Given the description of an element on the screen output the (x, y) to click on. 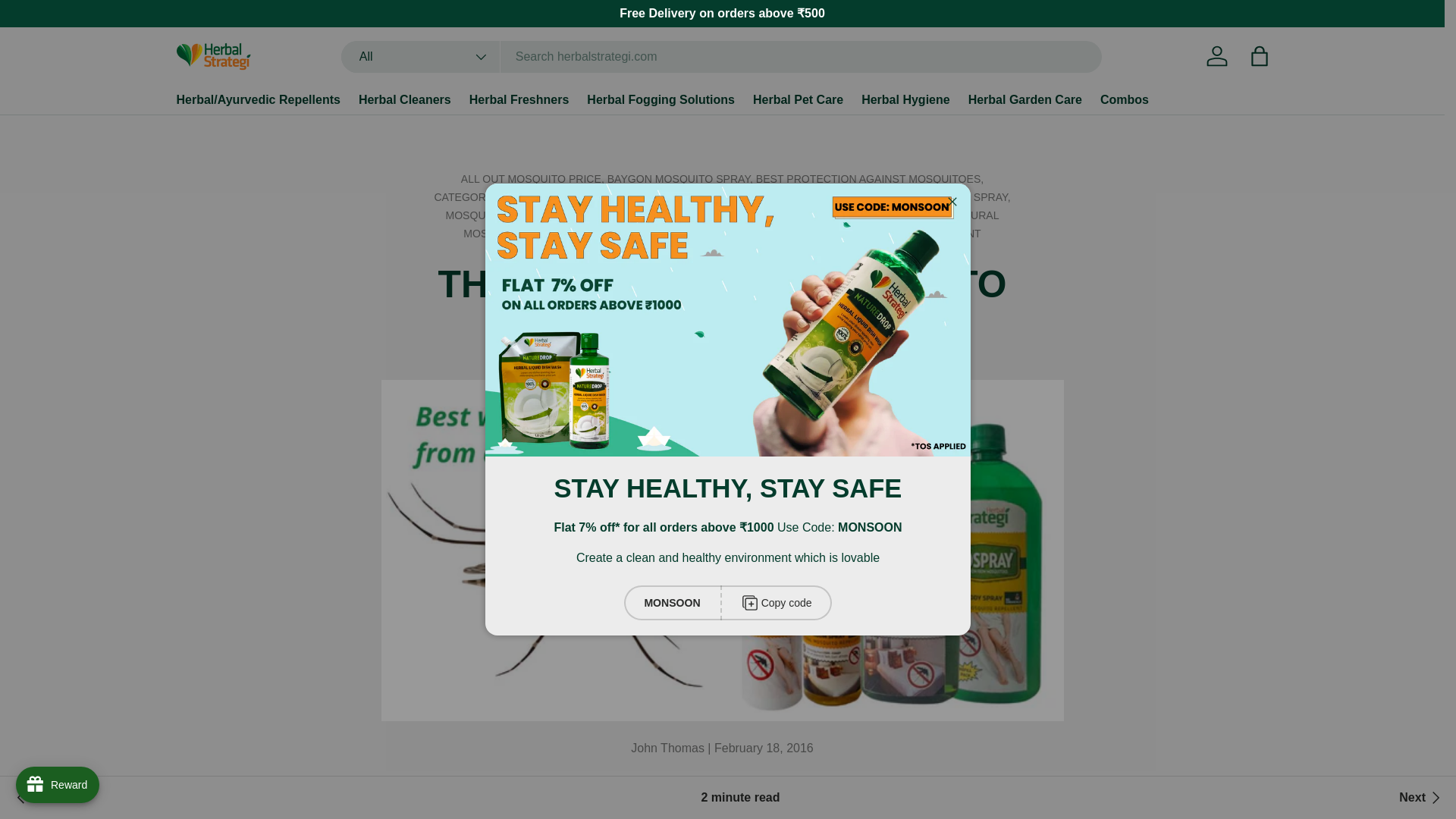
NATURAL MOSQUITO REPELLENT FOR BABY, (714, 233)
Herbal Garden Care (1024, 99)
Herbal Freshners (518, 99)
Combos (1124, 99)
Previous (46, 797)
ALL OUT MOSQUITO PRICE, (534, 178)
Log in (1216, 55)
TOP MOSQUITO REPELLENT (906, 233)
GOOD NIGHT MOSQUITO, (702, 196)
Bag (1258, 55)
Hand Sanitizers are great. But choose wisely! (1421, 797)
Herbal Hygiene (905, 99)
Herbal Fogging Solutions (660, 99)
INSECT REPELLENT, (824, 196)
MOSQUITO BODY SPRAY, (944, 196)
